Given the description of an element on the screen output the (x, y) to click on. 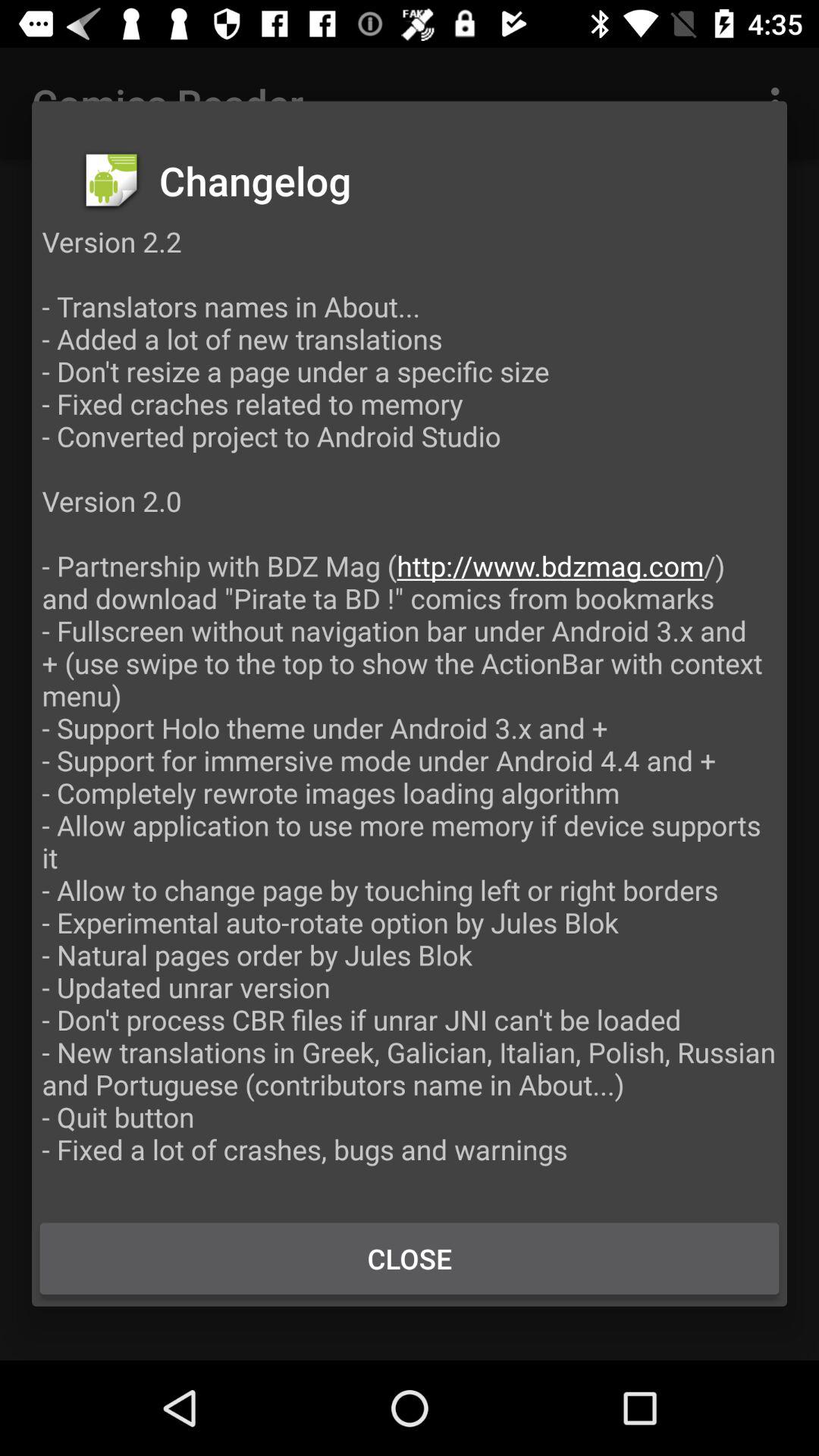
click button above close (409, 711)
